Given the description of an element on the screen output the (x, y) to click on. 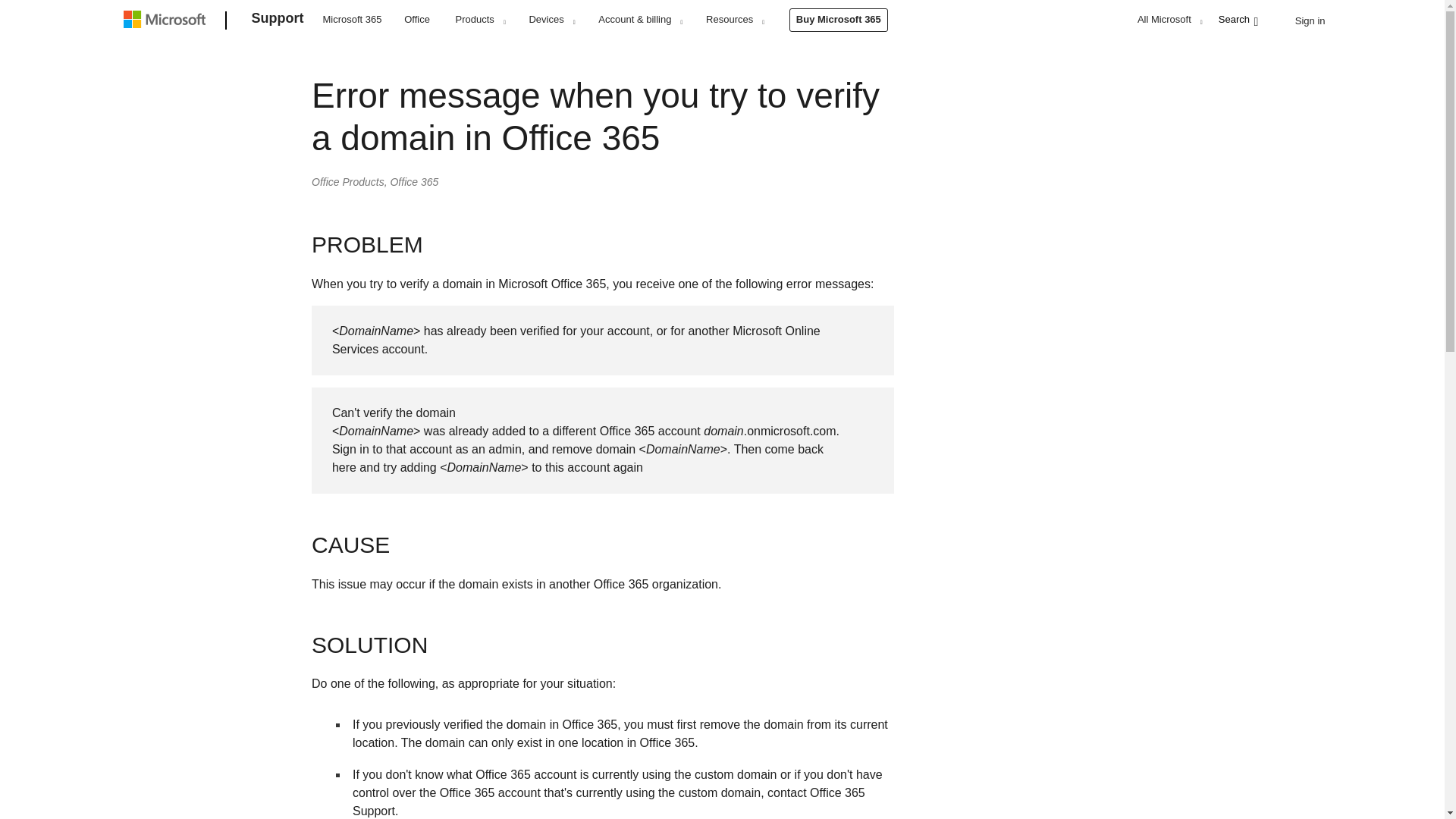
Support (277, 20)
Microsoft 365 (351, 18)
Office (416, 18)
Devices (550, 18)
Microsoft (167, 20)
Resources (734, 18)
Products (480, 18)
